Given the description of an element on the screen output the (x, y) to click on. 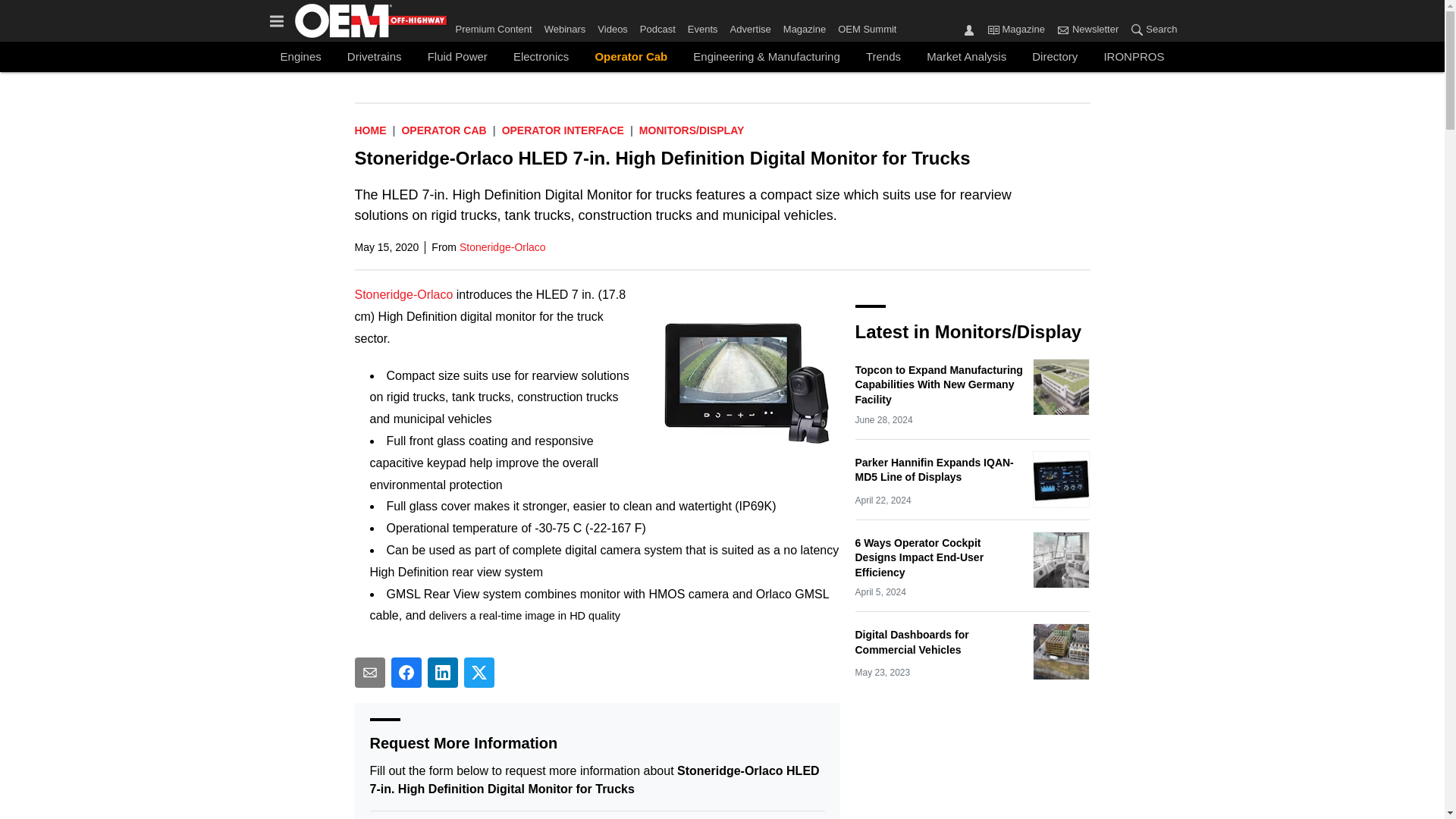
Directory (1054, 56)
IRONPROS (1133, 56)
Operator Cab (631, 56)
Newsletter (1062, 29)
Sign In (968, 29)
Electronics (540, 56)
Magazine (1016, 29)
Market Analysis (966, 56)
Magazine (804, 26)
OEM Summit (863, 26)
Share To linkedin (443, 672)
Videos (612, 26)
Trends (883, 56)
Operator Interface (563, 130)
Webinars (565, 26)
